Given the description of an element on the screen output the (x, y) to click on. 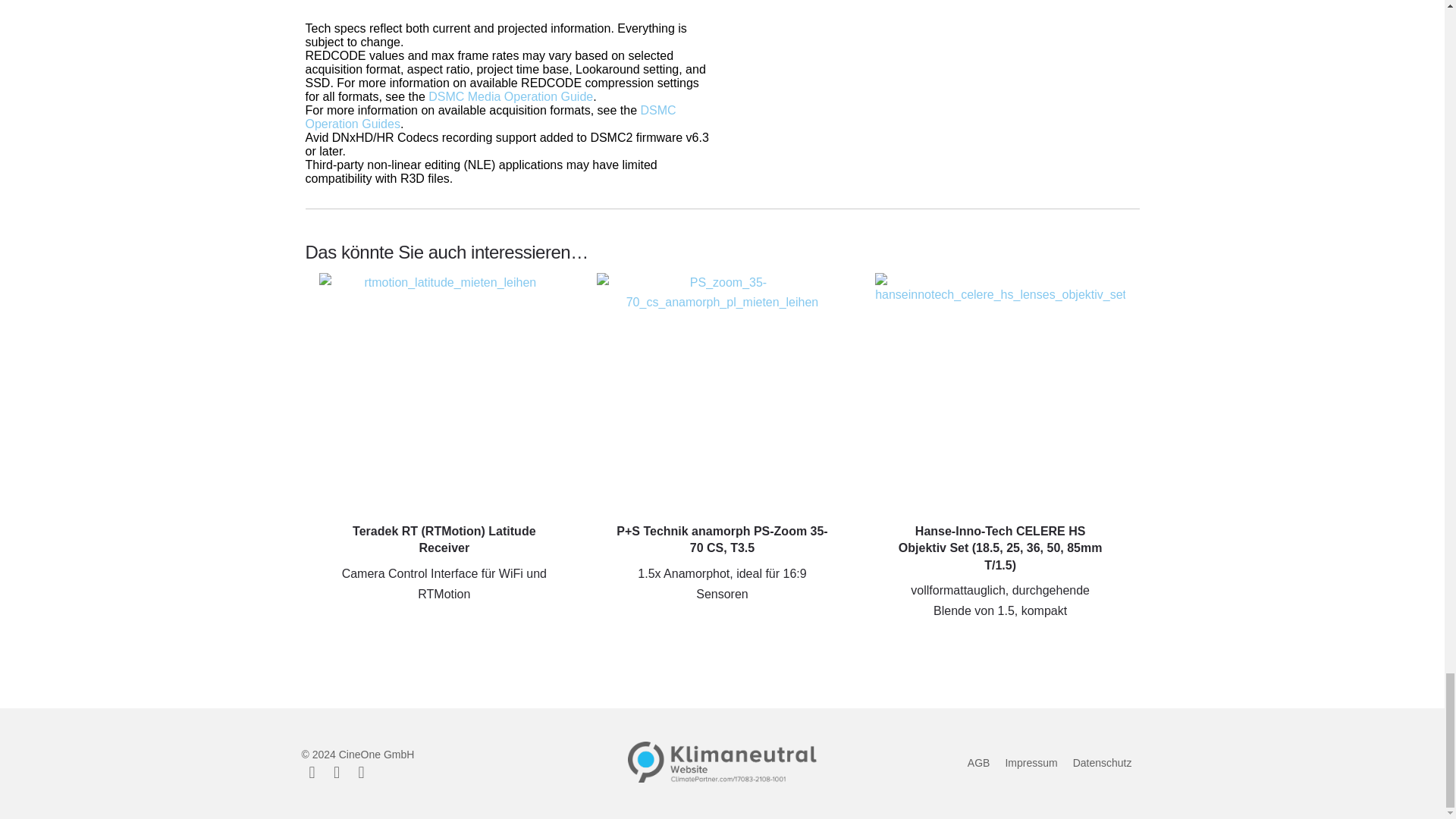
DSMC Operation Guides (489, 117)
AGB (979, 762)
Datenschutz (1102, 762)
DSMC Media Operation Guide (510, 96)
Impressum (1030, 762)
